Given the description of an element on the screen output the (x, y) to click on. 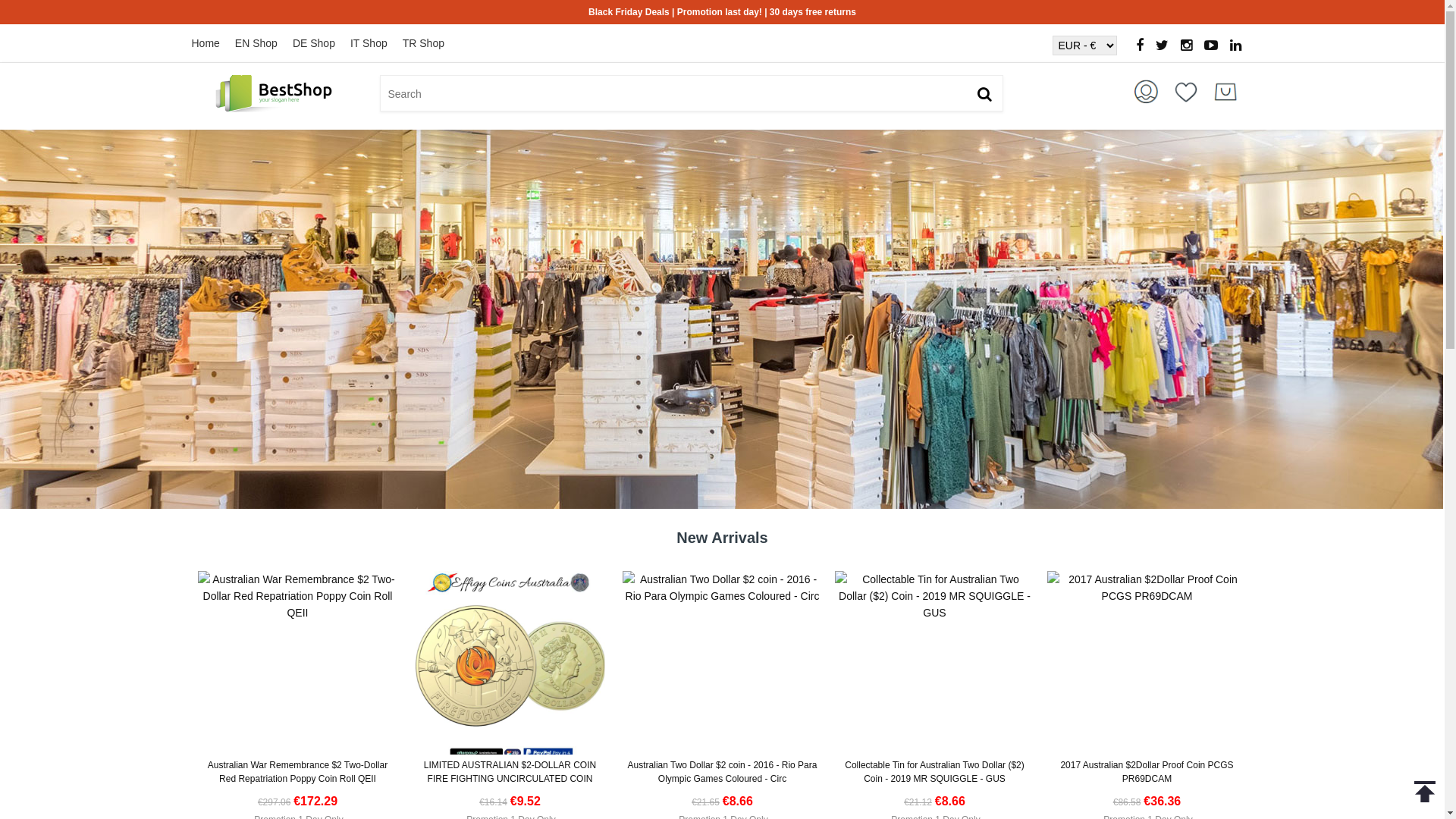
facebook Element type: hover (1139, 45)
twitter Element type: hover (1162, 45)
EN Shop Element type: text (263, 42)
Login Element type: hover (1146, 91)
IT Shop Element type: text (376, 42)
youtube Element type: hover (1210, 45)
Heart Element type: hover (1185, 91)
2017 Australian $2Dollar Proof Coin PCGS PR69DCAM Element type: text (1146, 771)
TR Shop Element type: text (430, 42)
2017 Australian $2Dollar Proof Coin PCGS PR69DCAM Element type: hover (1146, 587)
Home Element type: text (212, 42)
linkedin Element type: hover (1235, 45)
DE Shop Element type: text (321, 42)
Cart Element type: hover (1225, 91)
instagram Element type: hover (1186, 45)
